Given the description of an element on the screen output the (x, y) to click on. 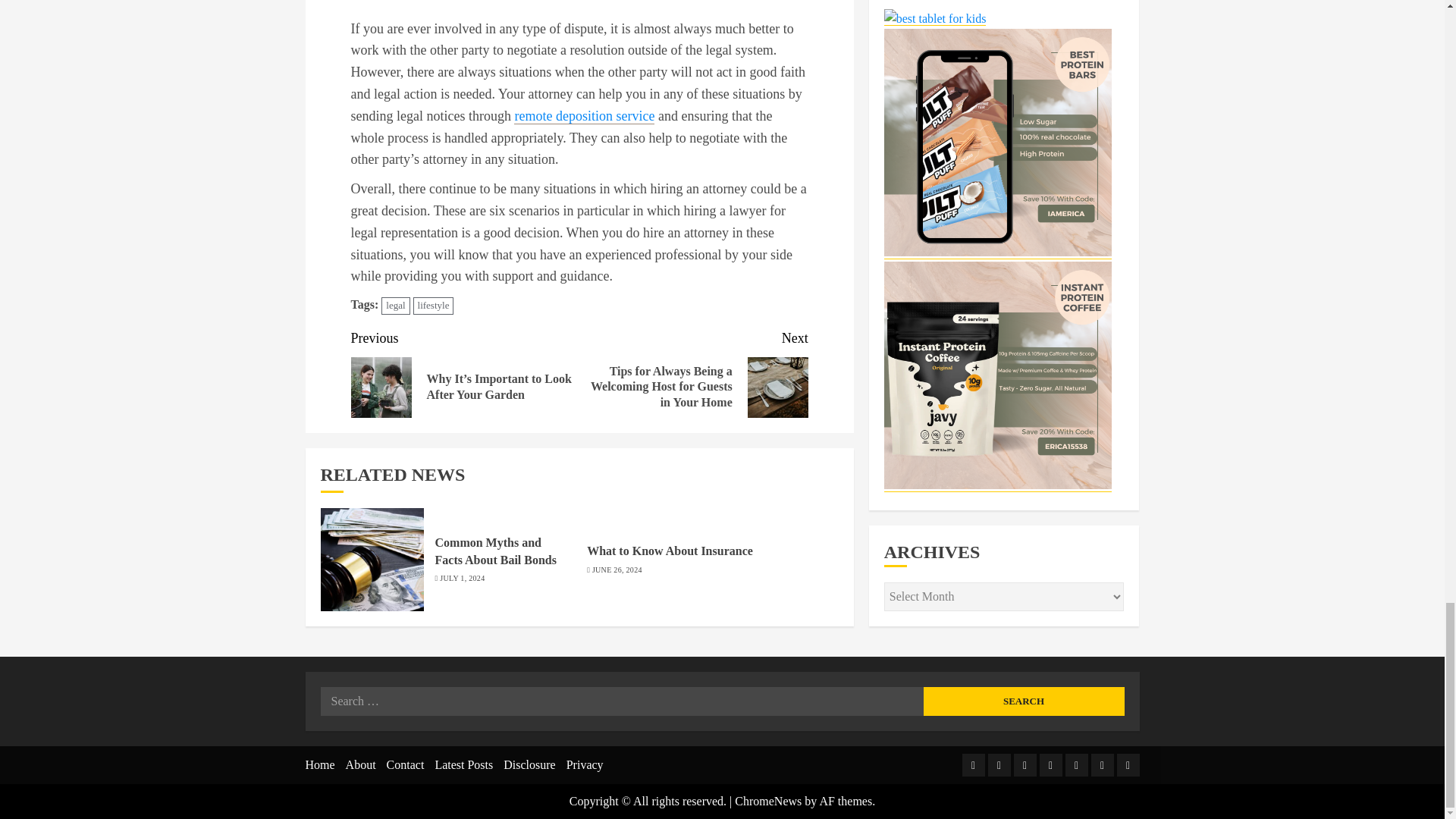
Search (1023, 701)
Search (1023, 701)
